Given the description of an element on the screen output the (x, y) to click on. 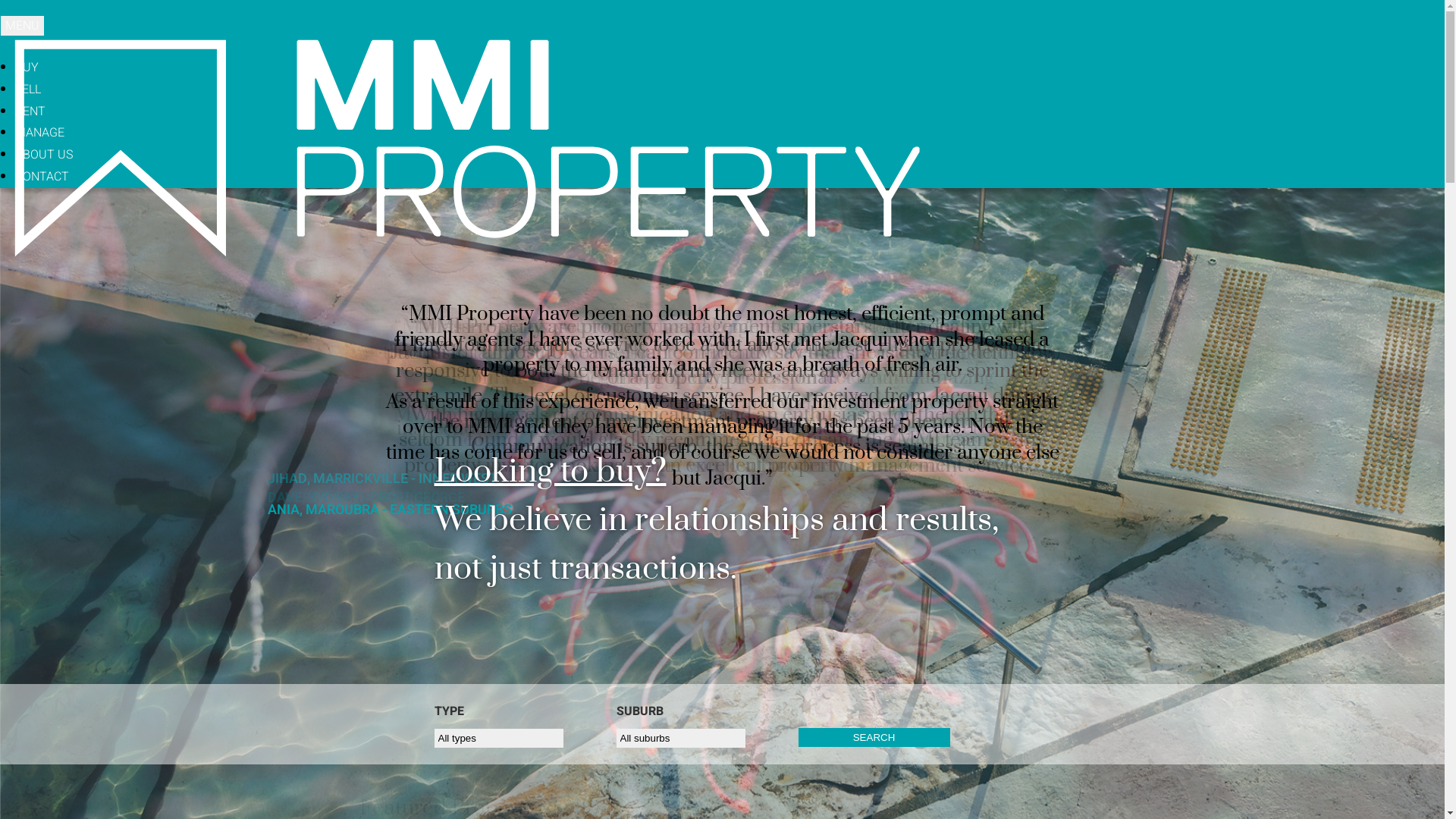
ABOUT US Element type: text (43, 154)
Search Element type: text (873, 737)
Looking to buy? Element type: text (549, 471)
MANAGE Element type: text (39, 132)
RENT Element type: text (30, 111)
SELL Element type: text (27, 89)
CONTACT Element type: text (42, 176)
BUY Element type: text (26, 67)
MENU Element type: text (22, 25)
